Given the description of an element on the screen output the (x, y) to click on. 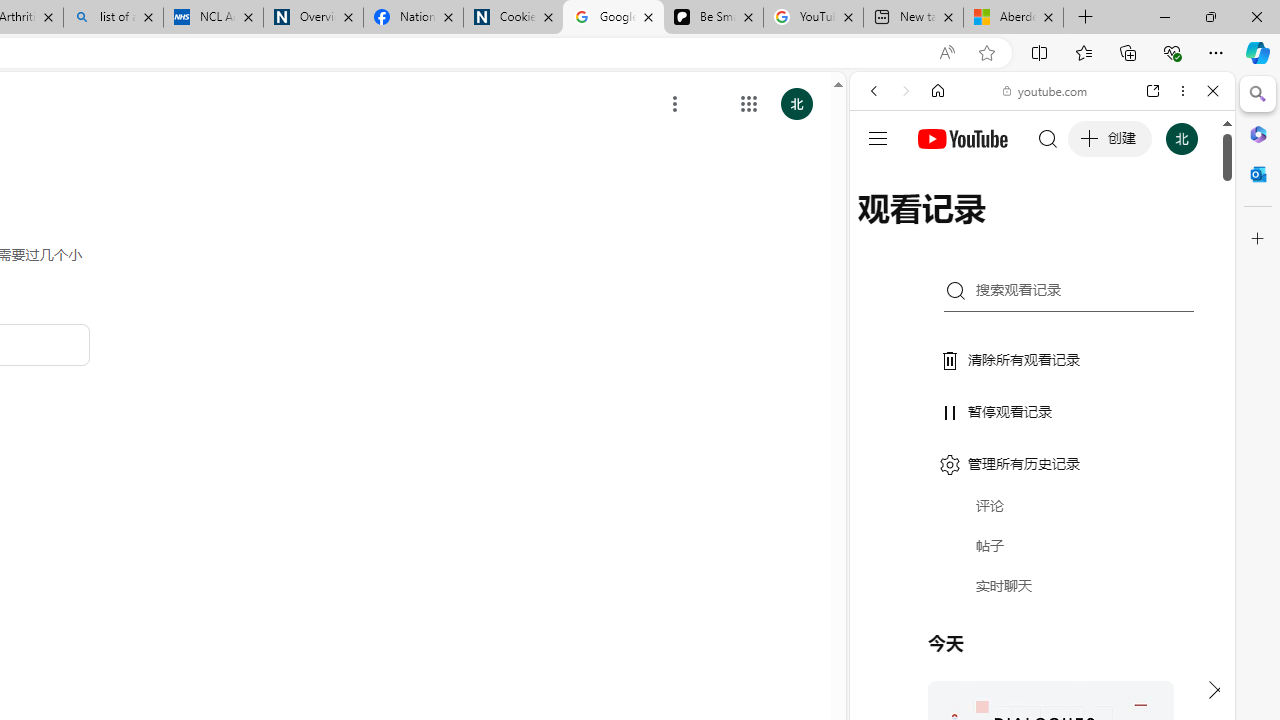
Trailer #2 [HD] (1042, 592)
Cookies (513, 17)
Search videos from youtube.com (1005, 657)
